Given the description of an element on the screen output the (x, y) to click on. 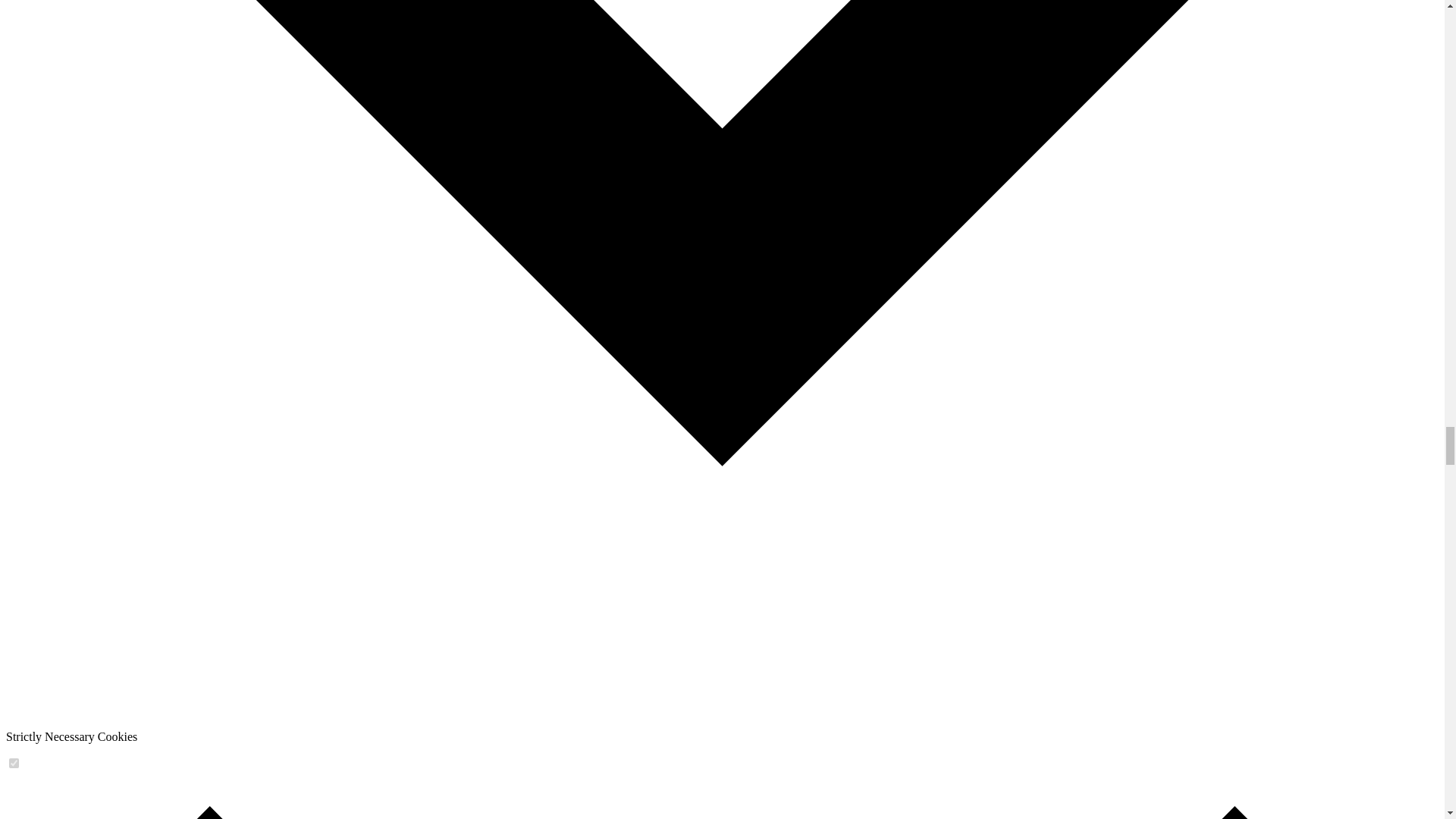
on (13, 763)
